Given the description of an element on the screen output the (x, y) to click on. 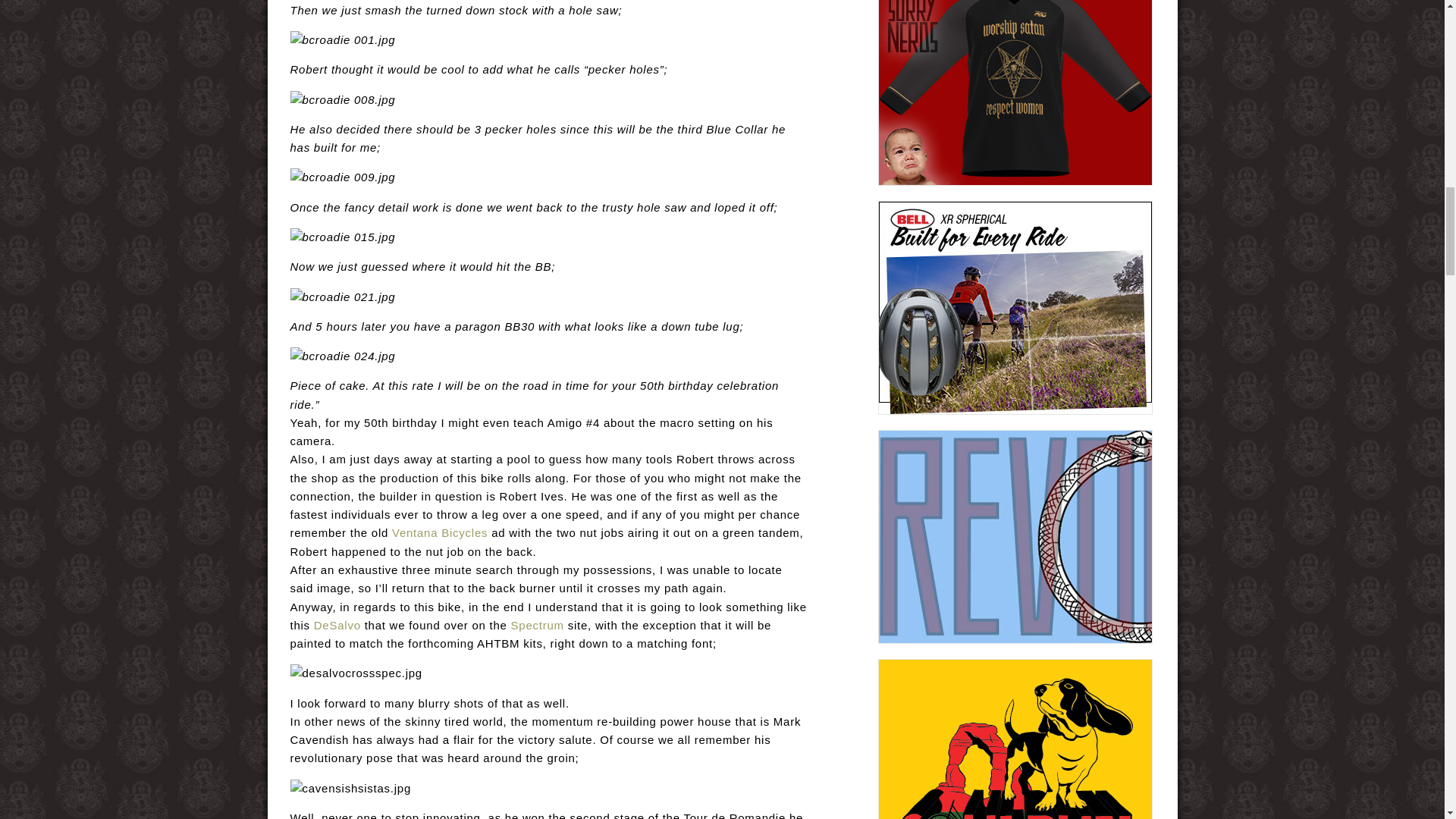
DeSalvo (337, 625)
Ventana Bicycles (439, 532)
Spectrum (537, 625)
